Given the description of an element on the screen output the (x, y) to click on. 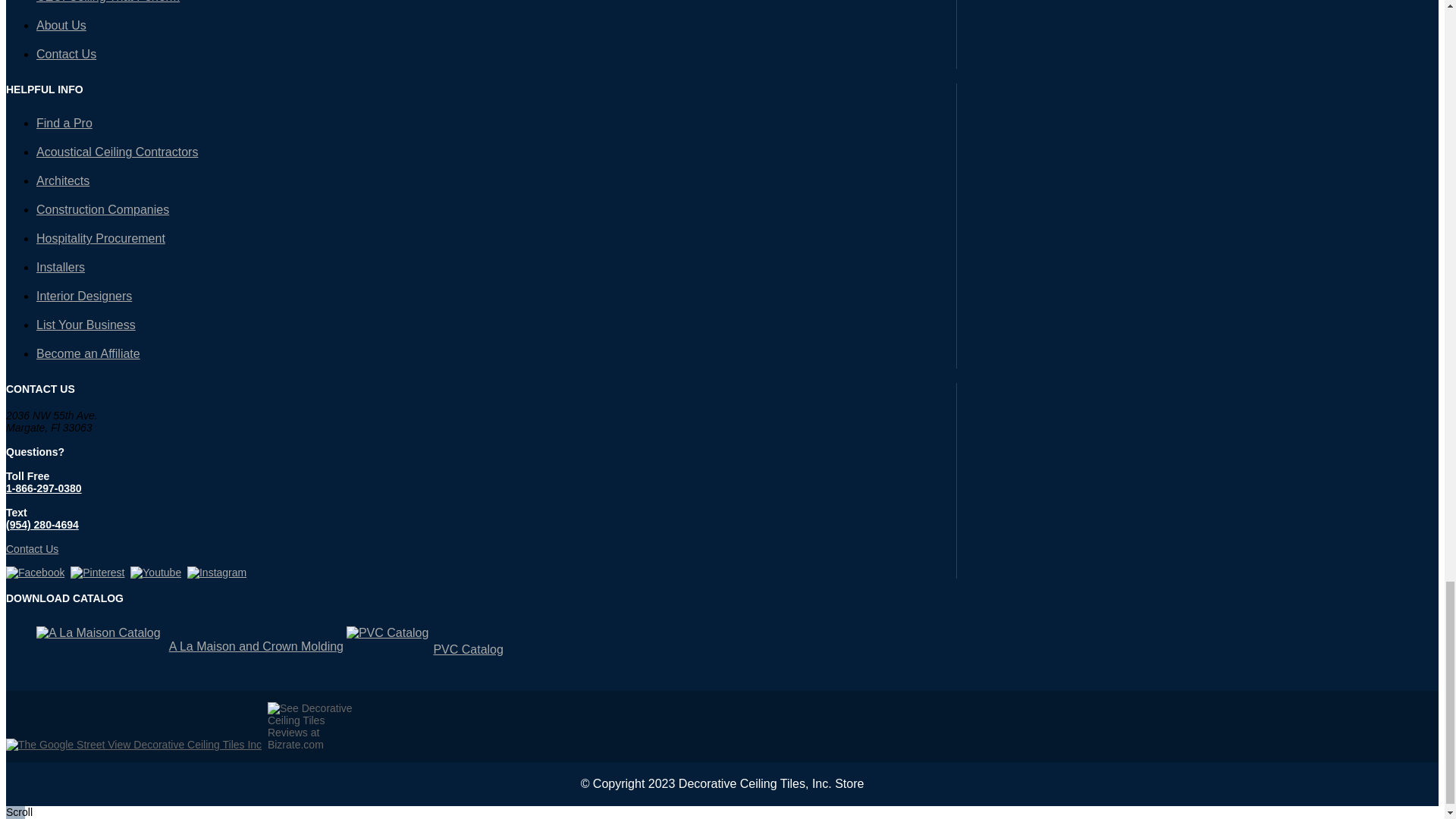
Acoustical Ceiling Contractors (117, 151)
Find a Pro (64, 123)
Construction Companies (102, 209)
Architects (62, 180)
Hospitality Procurement (100, 237)
Installers (60, 267)
